Given the description of an element on the screen output the (x, y) to click on. 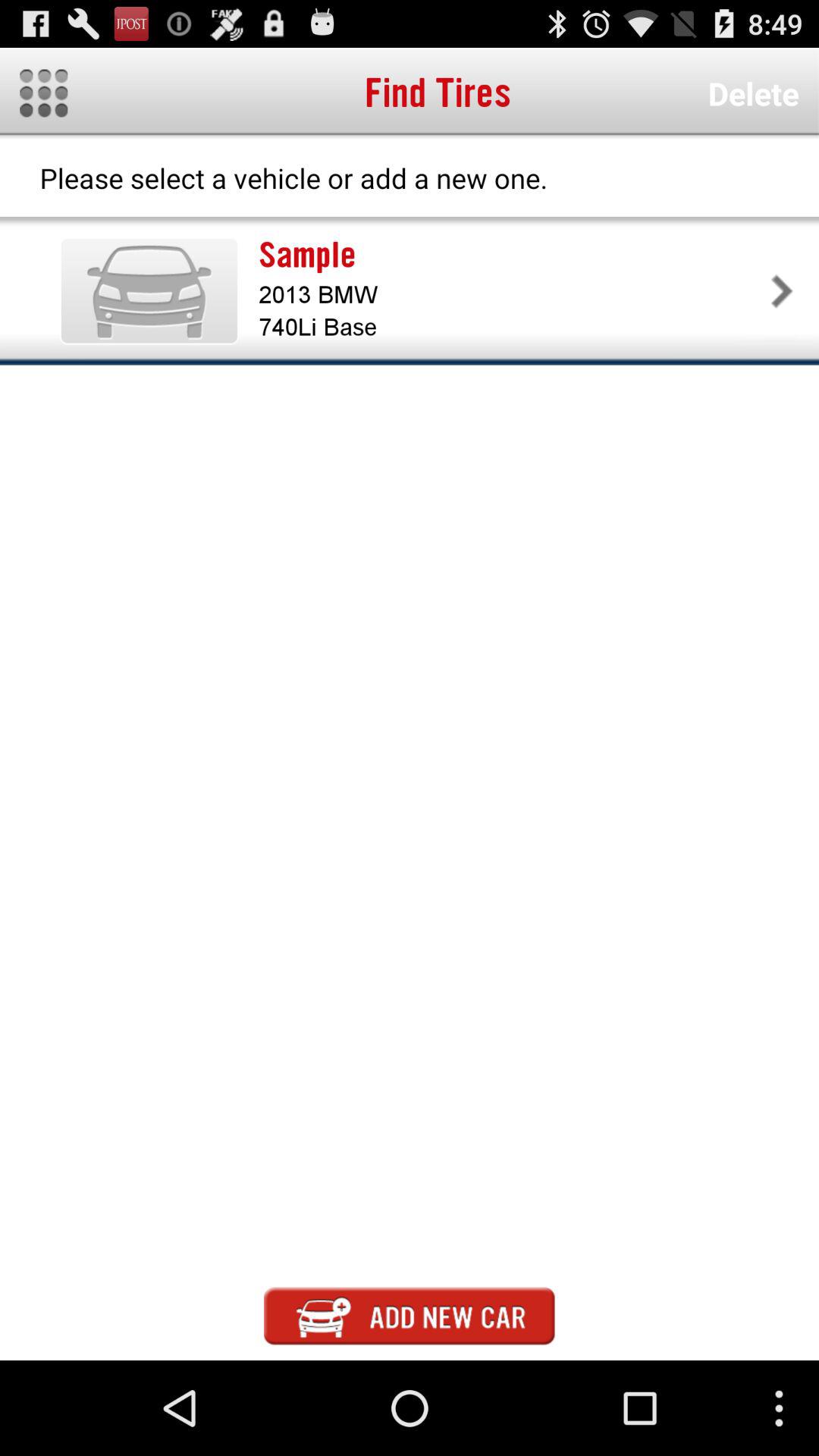
add new car (409, 1316)
